Given the description of an element on the screen output the (x, y) to click on. 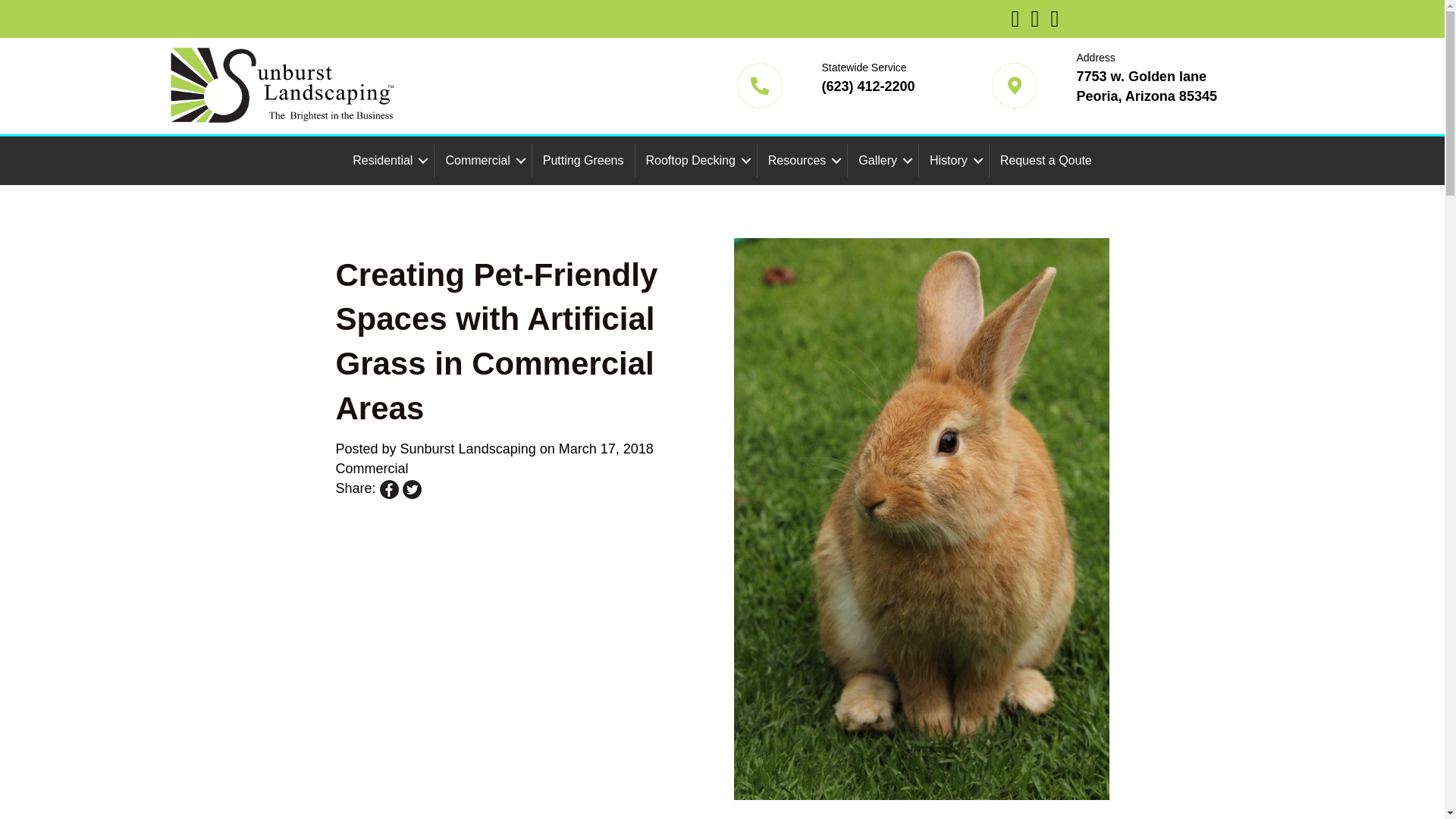
Rooftop Decking (695, 160)
phone-icon-new (759, 85)
Putting Greens (583, 160)
Resources (802, 160)
Commercial (482, 160)
loc-icon-new (1013, 85)
sunburst landscaping (282, 85)
Gallery (882, 160)
Residential (387, 160)
